Given the description of an element on the screen output the (x, y) to click on. 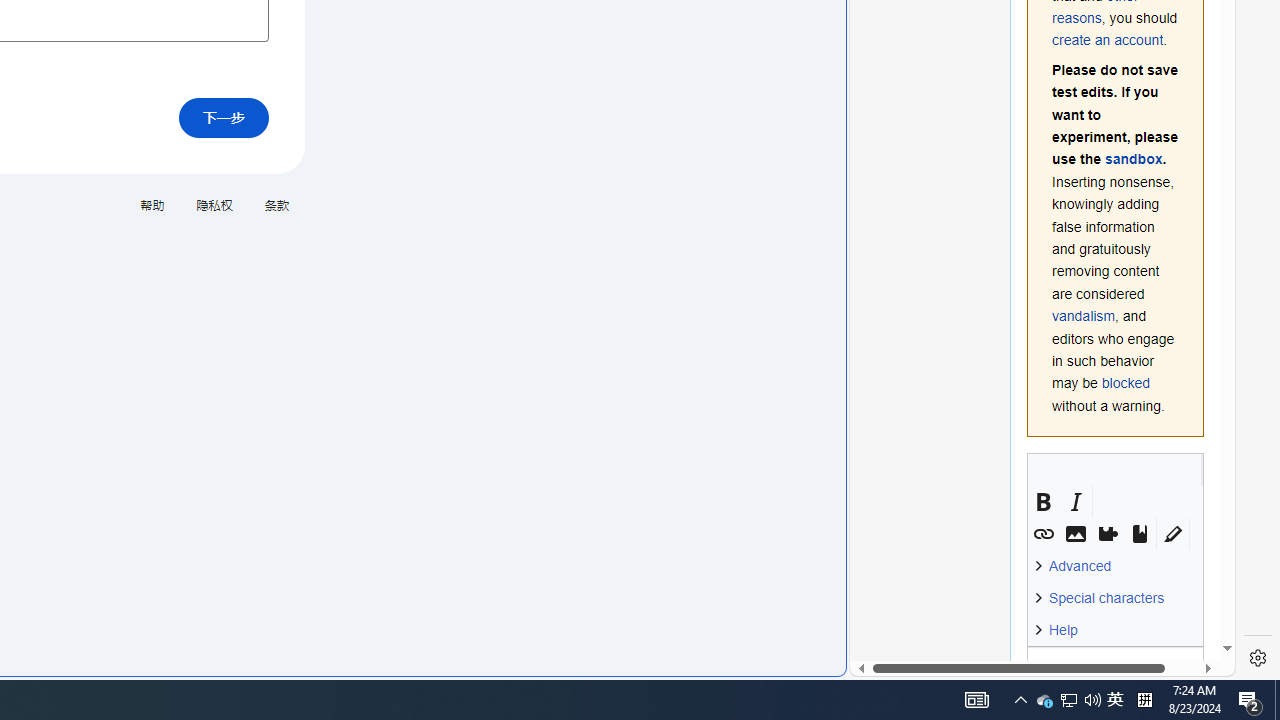
Advanced (1076, 566)
Reference (1139, 533)
Bold (1043, 502)
Italic (1075, 502)
Link (1043, 533)
Insert a template (1107, 533)
